Given the description of an element on the screen output the (x, y) to click on. 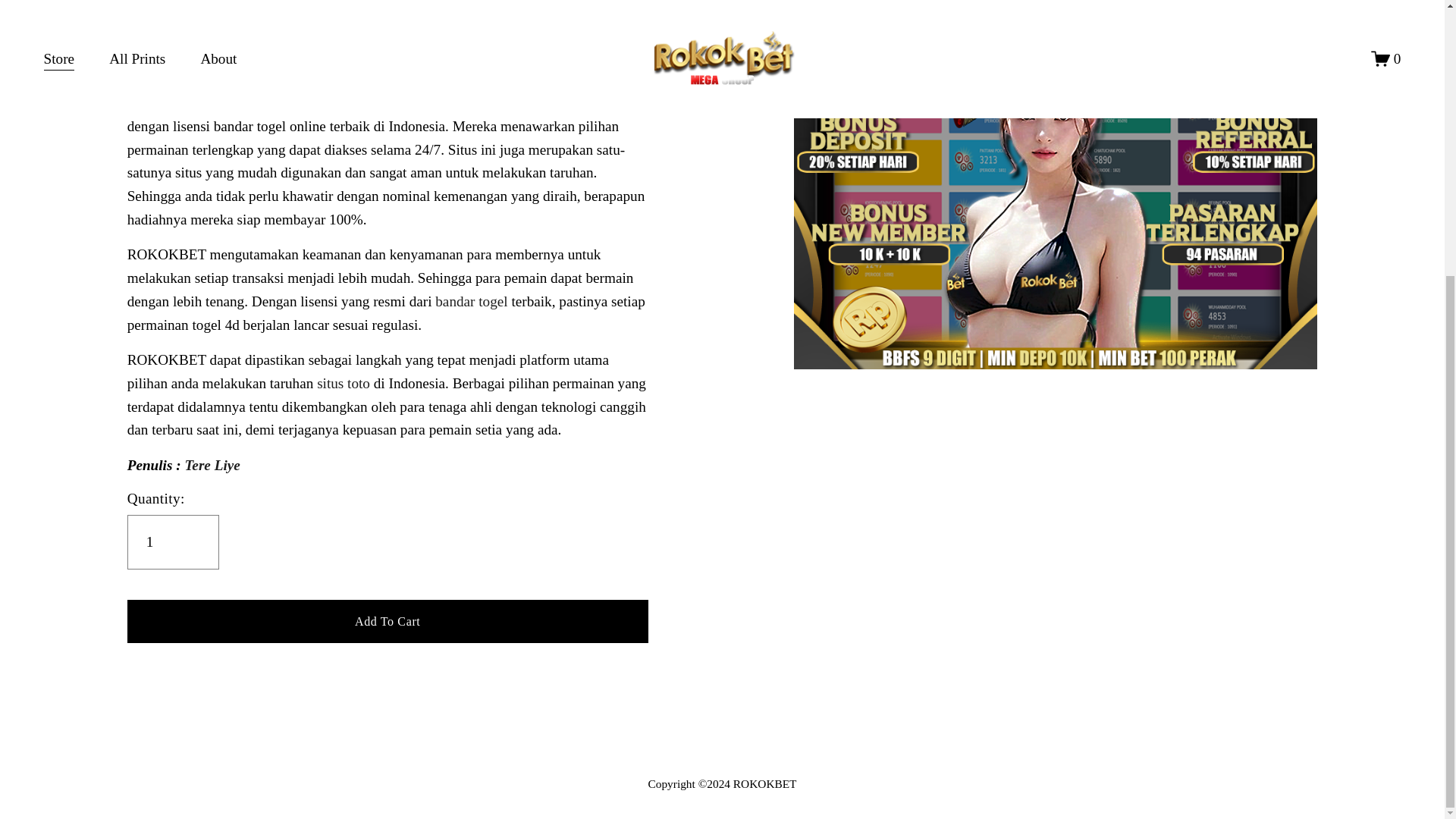
Daftar Slot Online (721, 783)
1 (173, 542)
ROKOKBET (167, 102)
bandar togel (470, 301)
Add To Cart (387, 620)
situs toto (343, 383)
Tere Liye (212, 465)
